Given the description of an element on the screen output the (x, y) to click on. 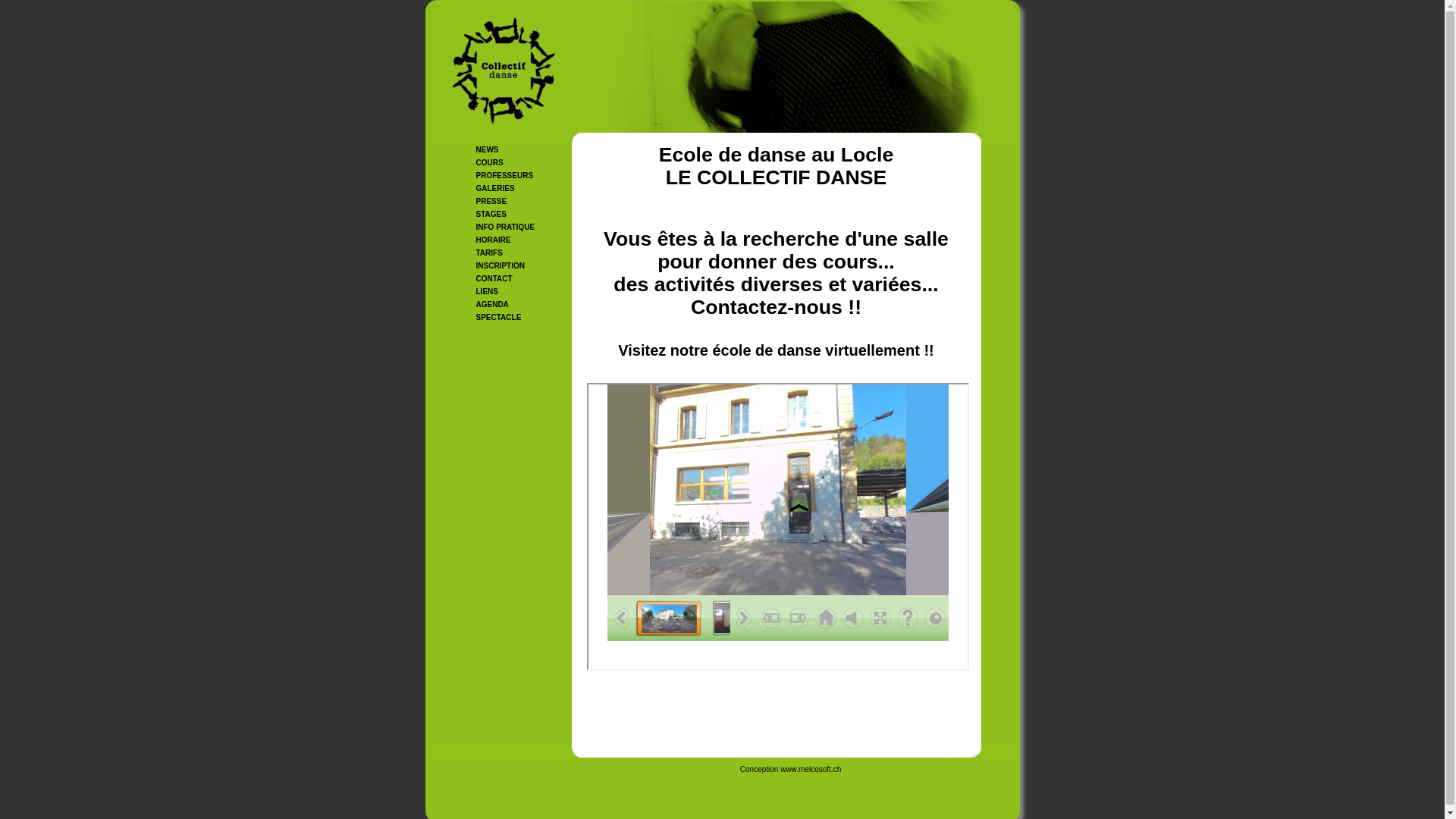
AGENDA Element type: text (492, 304)
PRESSE Element type: text (491, 201)
HORAIRE Element type: text (493, 239)
NEWS Element type: text (487, 149)
LIENS Element type: text (487, 291)
INFO PRATIQUE Element type: text (505, 226)
CONTACT Element type: text (494, 278)
SPECTACLE Element type: text (498, 317)
STAGES Element type: text (491, 214)
COURS Element type: text (489, 162)
PROFESSEURS Element type: text (504, 175)
Conception www.melcosoft.ch Element type: text (790, 769)
INSCRIPTION Element type: text (500, 265)
TARIFS Element type: text (489, 252)
GALERIES Element type: text (495, 188)
